Given the description of an element on the screen output the (x, y) to click on. 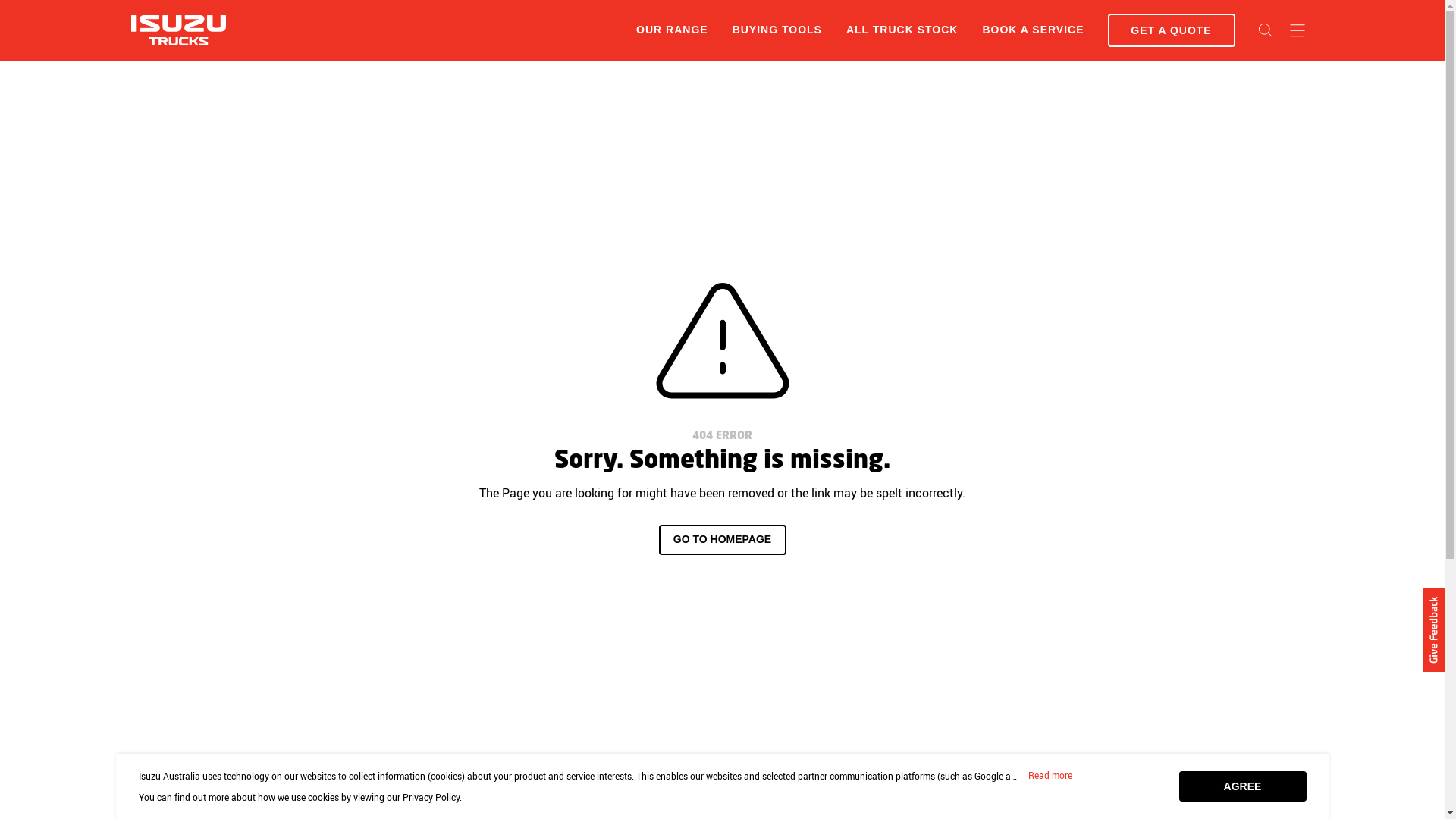
Privacy Policy Element type: text (429, 796)
OUR RANGE Element type: text (672, 29)
GO TO HOMEPAGE Element type: text (721, 539)
AGREE Element type: text (1241, 786)
BUYING TOOLS Element type: text (777, 30)
ALL TRUCK STOCK Element type: text (901, 30)
BOOK A SERVICE Element type: text (1032, 30)
Read more Element type: text (1049, 775)
GET A QUOTE Element type: text (1170, 30)
